Given the description of an element on the screen output the (x, y) to click on. 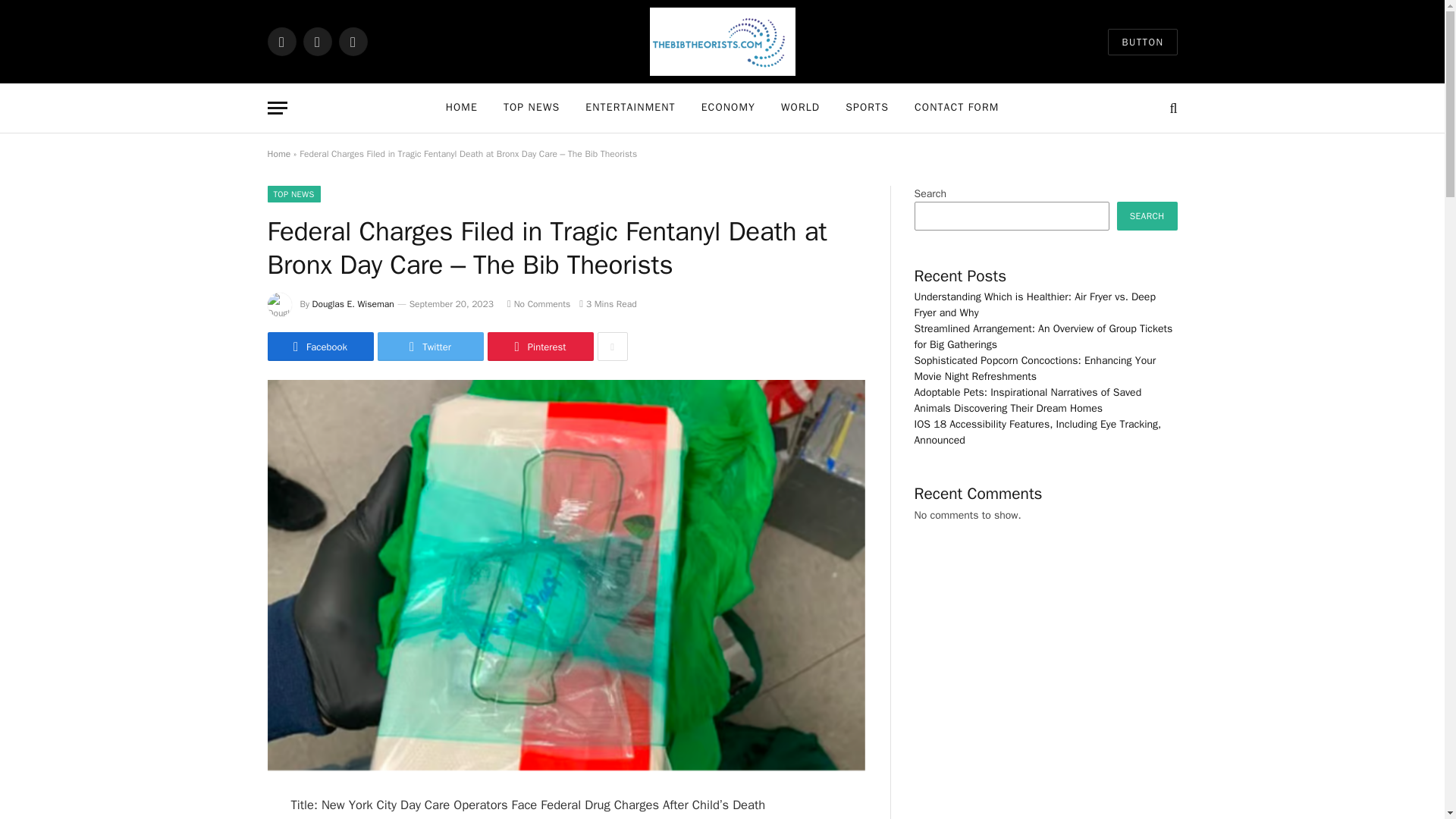
Twitter (430, 346)
ECONOMY (728, 107)
Share on Facebook (319, 346)
SPORTS (866, 107)
ENTERTAINMENT (629, 107)
Facebook (319, 346)
The Bib Theorists (721, 41)
Show More Social Sharing (611, 346)
No Comments (538, 304)
BUTTON (1142, 41)
WORLD (800, 107)
Posts by Douglas E. Wiseman (353, 304)
CONTACT FORM (956, 107)
Home (277, 153)
TOP NEWS (293, 193)
